Given the description of an element on the screen output the (x, y) to click on. 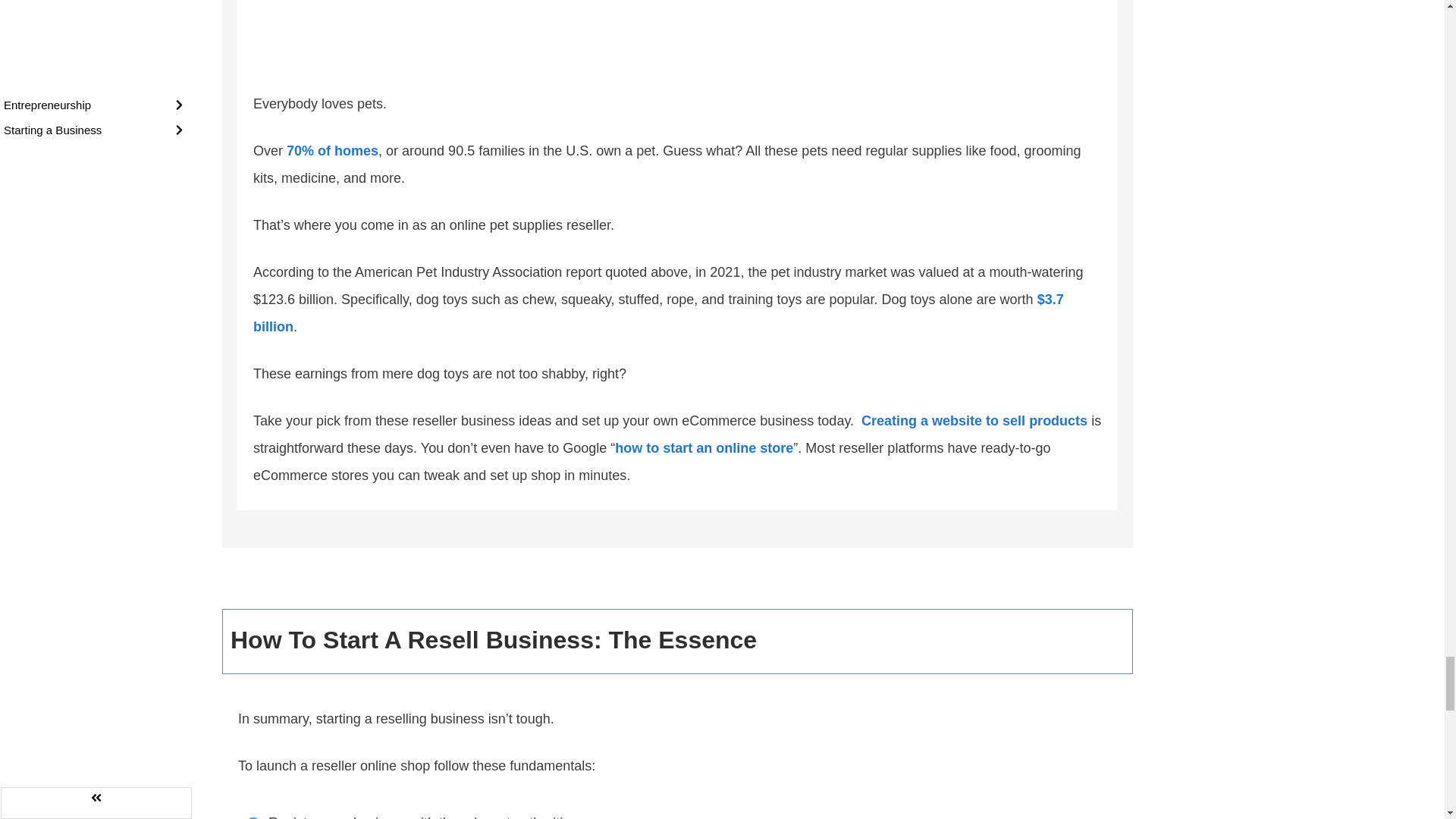
Pet Supplies (592, 37)
